Given the description of an element on the screen output the (x, y) to click on. 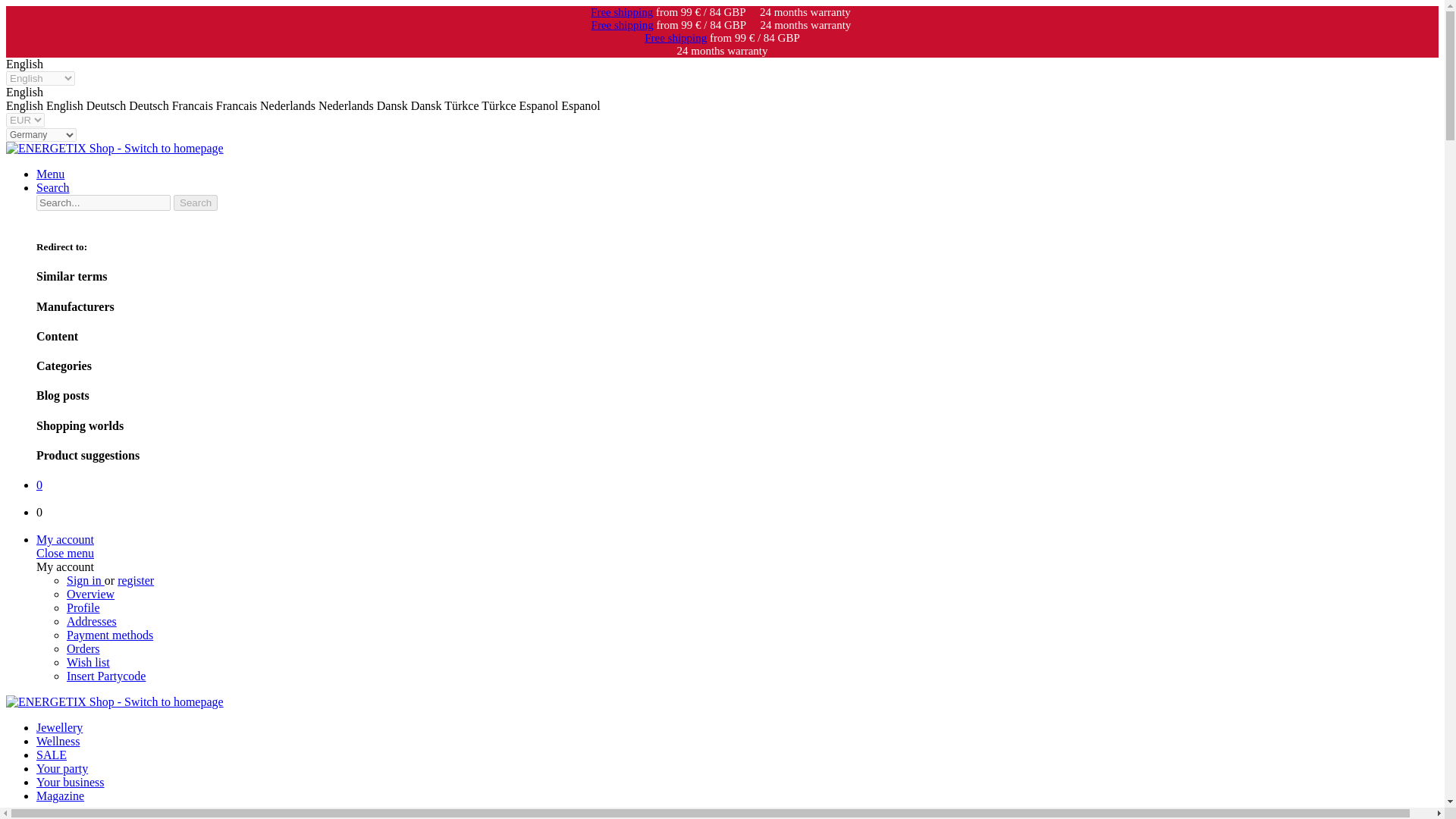
Espanol (559, 105)
Close menu (65, 553)
Your business (70, 781)
English (45, 105)
Francais (193, 105)
Nederlands (289, 105)
Free shipping (622, 24)
Payment methods (109, 634)
Free shipping (621, 11)
Free shipping (675, 37)
